Given the description of an element on the screen output the (x, y) to click on. 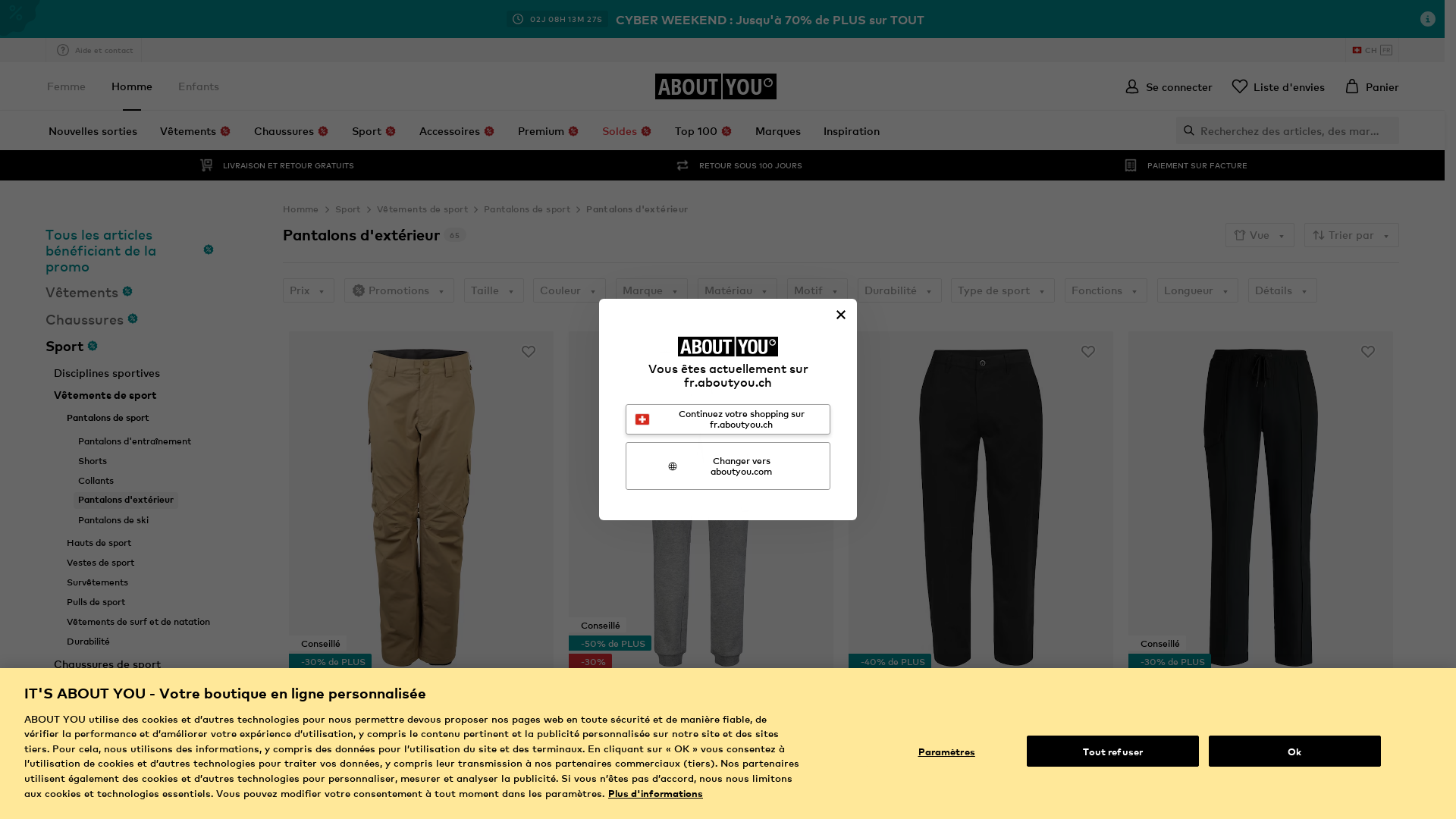
Chaussures de sport Element type: text (106, 663)
Soldes Element type: text (627, 130)
Vue Element type: text (1259, 234)
Hauts de sport Element type: text (98, 542)
Sport Element type: text (129, 345)
Collants Element type: text (95, 479)
Longueur Element type: text (1197, 290)
Sport Element type: text (373, 130)
Ok Element type: text (1294, 751)
Pantalons de ski Element type: text (113, 519)
ABOUT
YOU Element type: text (715, 86)
Femme Element type: text (66, 86)
Pantalons de sport Element type: text (107, 417)
Se connecter Element type: text (1167, 86)
Accessoires Element type: text (457, 130)
Accessoires Element type: text (129, 733)
Changer vers aboutyou.com Element type: text (727, 466)
Accessoires de sport Element type: text (107, 706)
Sport Element type: text (347, 208)
Pulls de sport Element type: text (95, 601)
Chaussures Element type: text (291, 130)
Aide et contact Element type: text (93, 49)
Enfants Element type: text (198, 86)
Couleur Element type: text (569, 290)
Panier Element type: text (1371, 86)
Liste d'envies Element type: text (1277, 86)
Nouvelles sorties Element type: text (92, 130)
Disciplines sportives Element type: text (106, 372)
Chaussures Element type: text (129, 318)
Promotions Element type: text (399, 290)
Taille Element type: text (494, 290)
Trier par Element type: text (1351, 234)
Top 100 Element type: text (703, 130)
Plus d'informations Element type: text (655, 792)
Homme Element type: text (131, 86)
Soldes Element type: text (129, 788)
Type de sport Element type: text (1002, 290)
Marques Element type: text (777, 130)
Premium Element type: text (129, 761)
Marque Element type: text (651, 290)
Fonctions Element type: text (1105, 290)
Motif Element type: text (817, 290)
Homme Element type: text (300, 208)
Continuez votre shopping sur fr.aboutyou.ch Element type: text (727, 419)
Vestes de sport Element type: text (100, 561)
Premium Element type: text (548, 130)
Pantalons de sport Element type: text (526, 208)
Shorts Element type: text (92, 460)
Tout refuser Element type: text (1112, 751)
Prix Element type: text (308, 290)
CH
FR Element type: text (1372, 49)
